Given the description of an element on the screen output the (x, y) to click on. 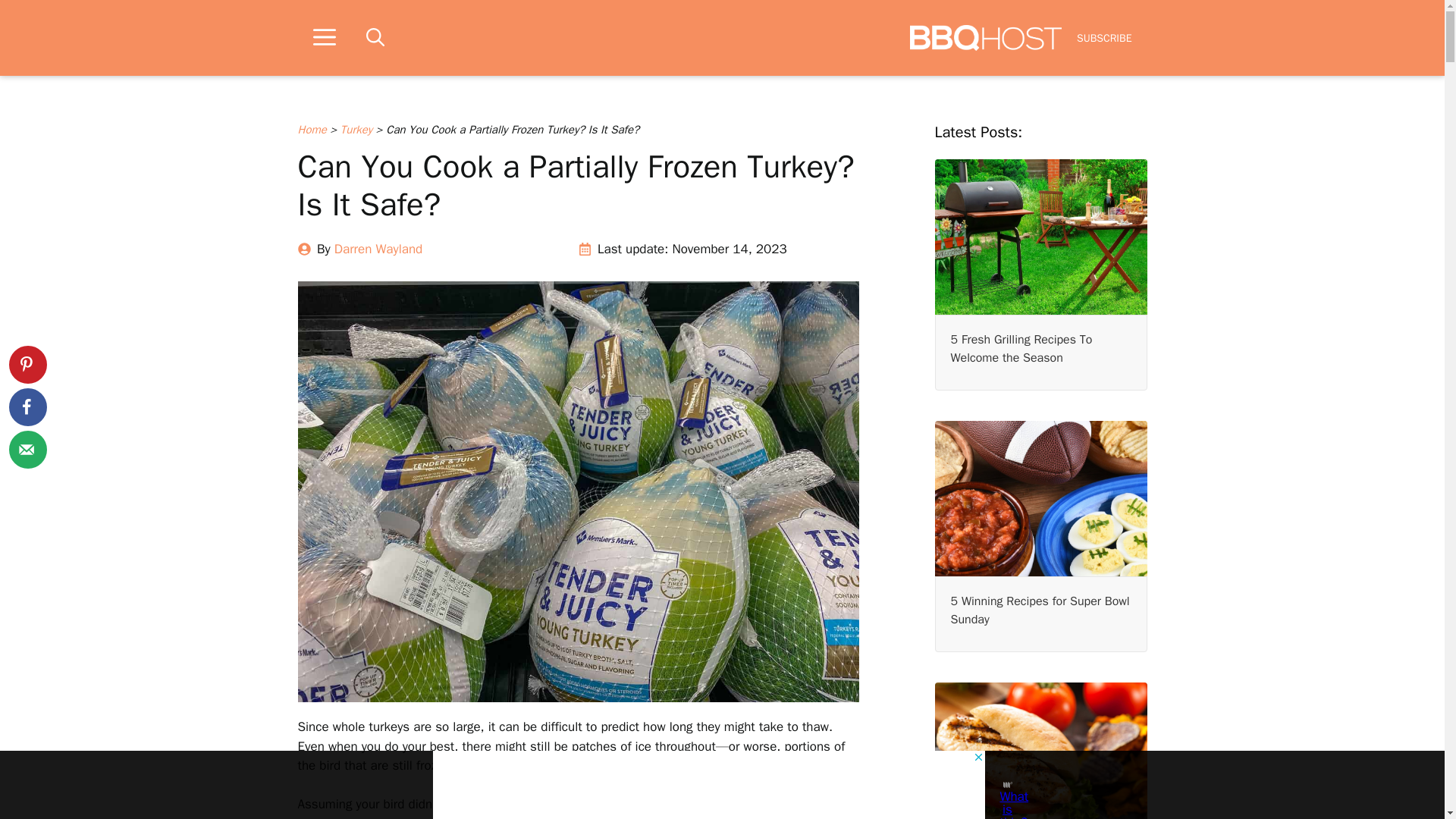
Menu (323, 37)
Save to Pinterest (27, 364)
Share on Facebook (27, 406)
Send over email (27, 449)
SUBSCRIBE (1104, 38)
3rd party ad content (708, 785)
